Given the description of an element on the screen output the (x, y) to click on. 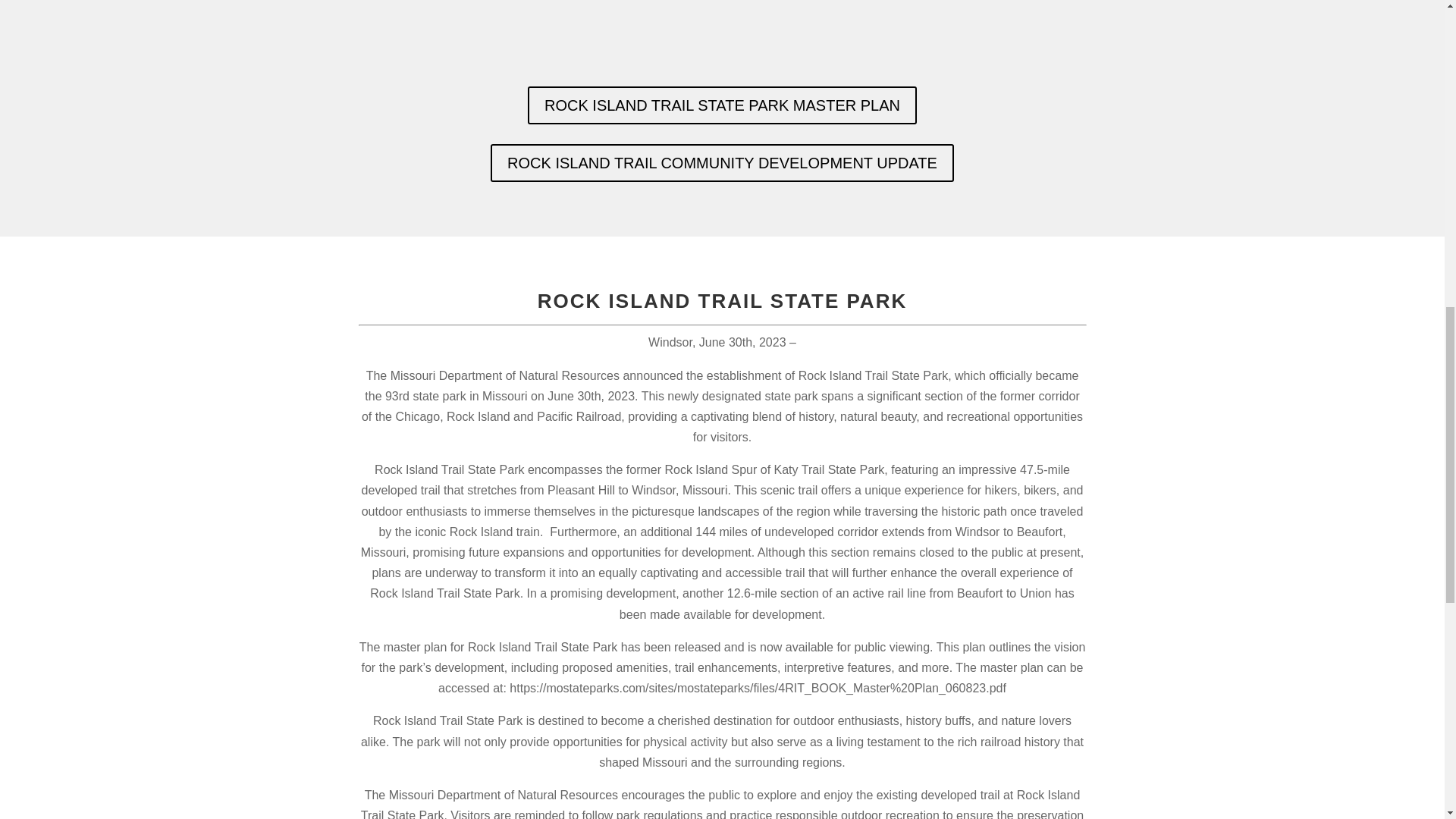
ROCK ISLAND TRAIL COMMUNITY DEVELOPMENT UPDATE (721, 162)
RockIslandTrailStateParkMasterPlanCover (722, 33)
ROCK ISLAND TRAIL STATE PARK MASTER PLAN (722, 105)
